Given the description of an element on the screen output the (x, y) to click on. 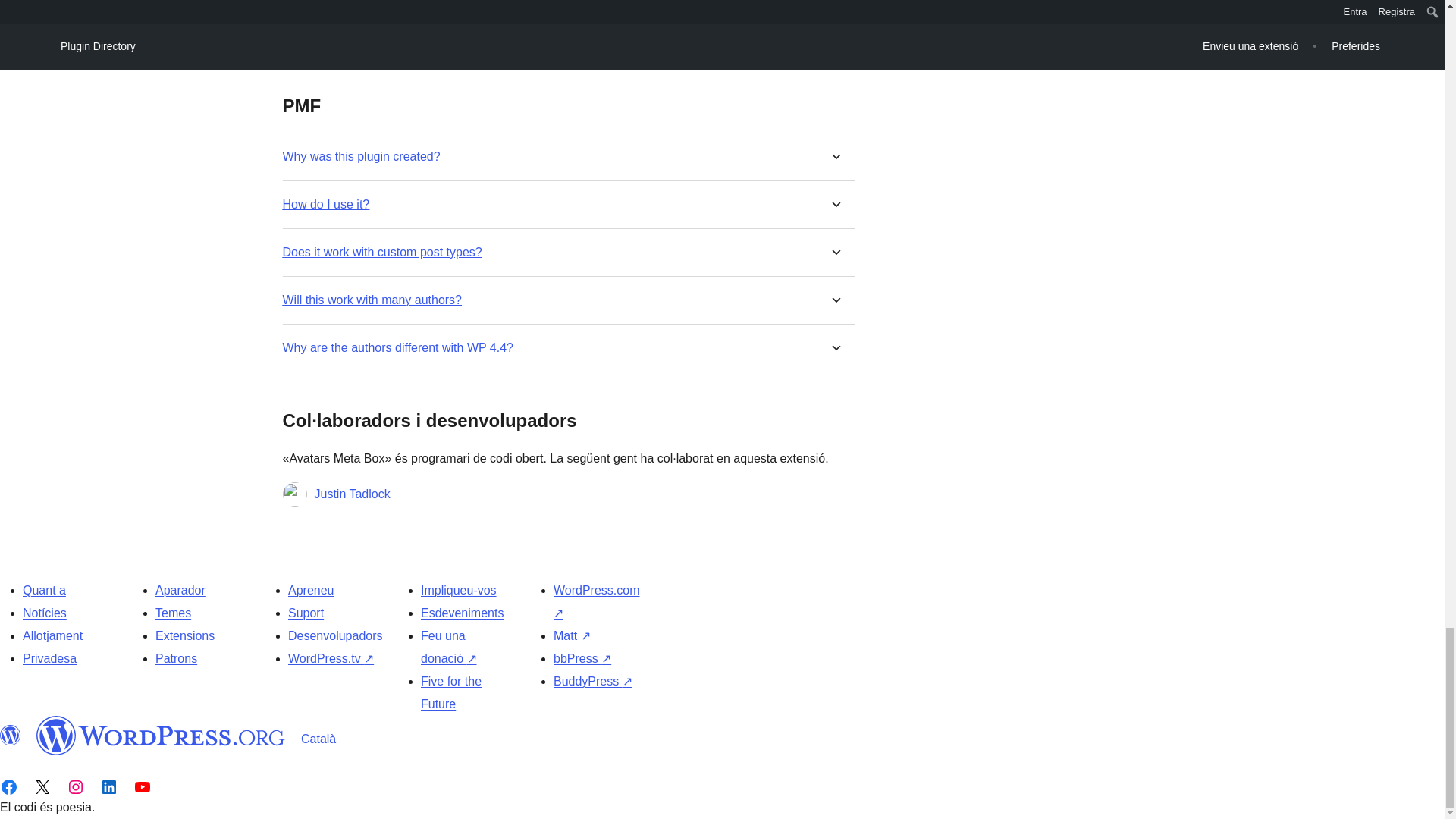
WordPress.org (160, 735)
WordPress.org (10, 735)
